Given the description of an element on the screen output the (x, y) to click on. 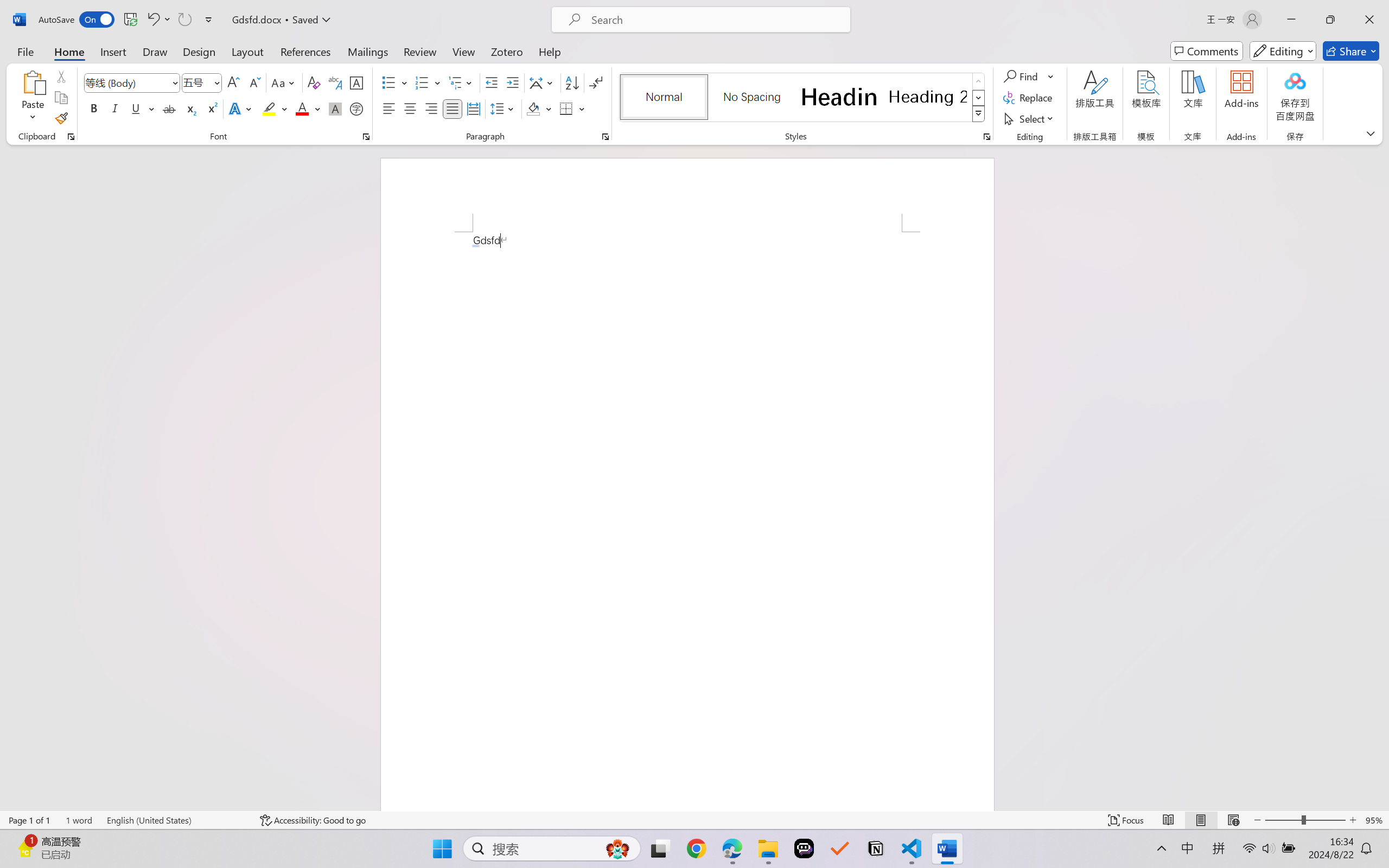
Heading 1 (839, 96)
